Given the description of an element on the screen output the (x, y) to click on. 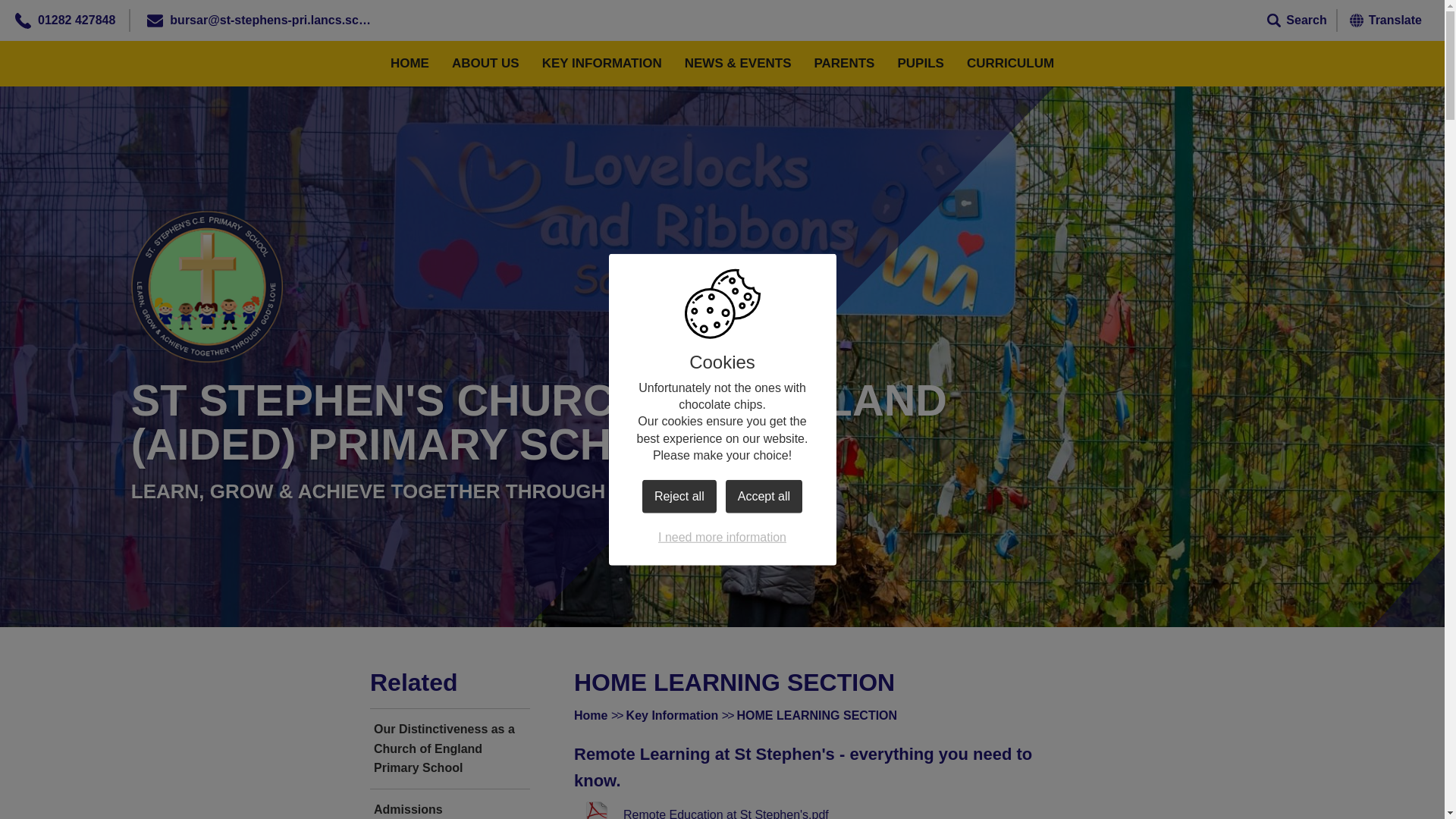
HOME (409, 63)
Home Page (206, 286)
ABOUT US (486, 63)
01282 427848 (76, 19)
KEY INFORMATION (601, 63)
